Given the description of an element on the screen output the (x, y) to click on. 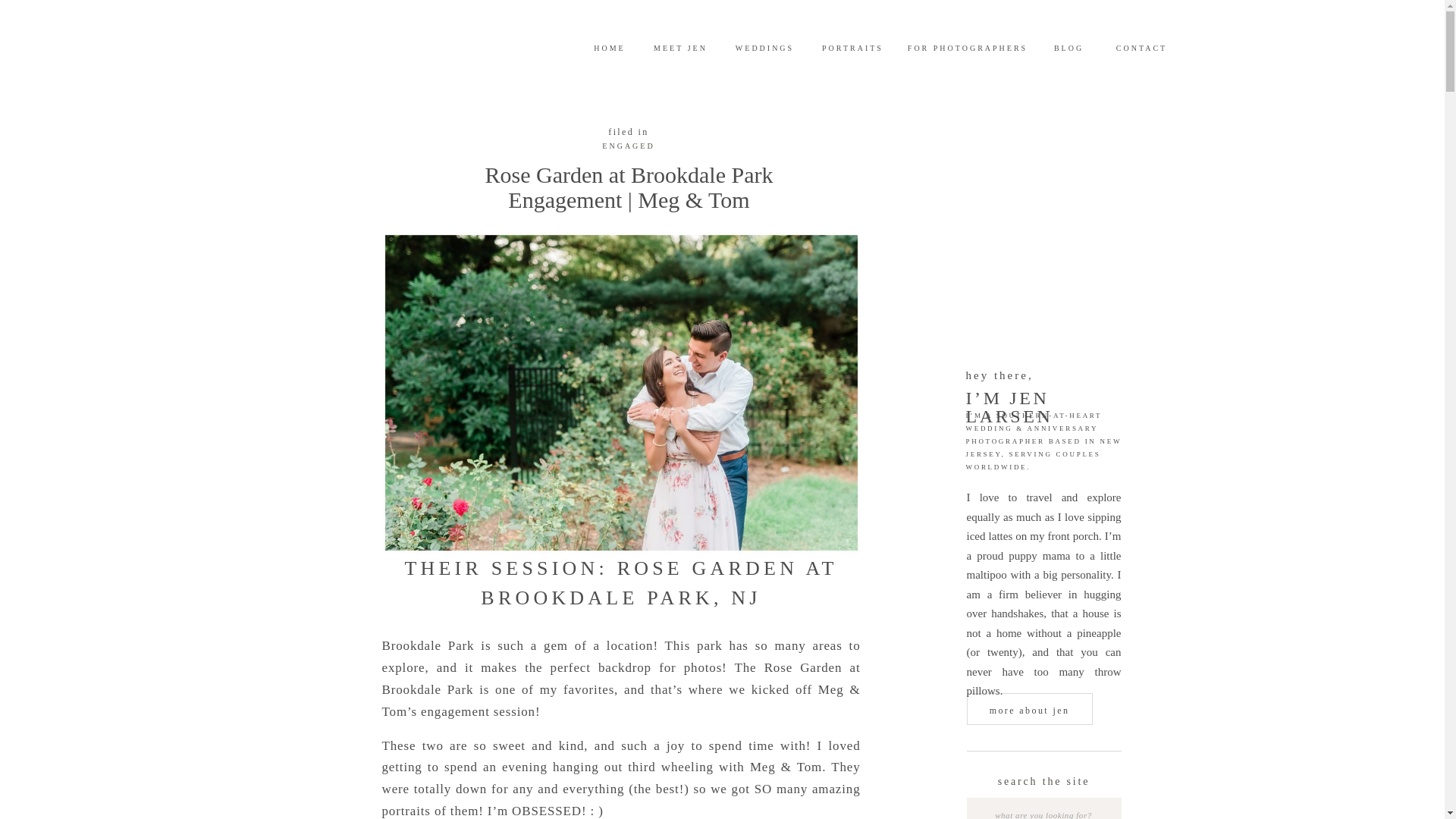
FOR PHOTOGRAPHERS (967, 47)
MEET JEN (681, 47)
ENGAGED (627, 145)
PORTRAITS (851, 47)
more about jen (1029, 709)
HOME (609, 47)
WEDDINGS (764, 47)
CONTACT (1141, 47)
BLOG (1068, 47)
